Given the description of an element on the screen output the (x, y) to click on. 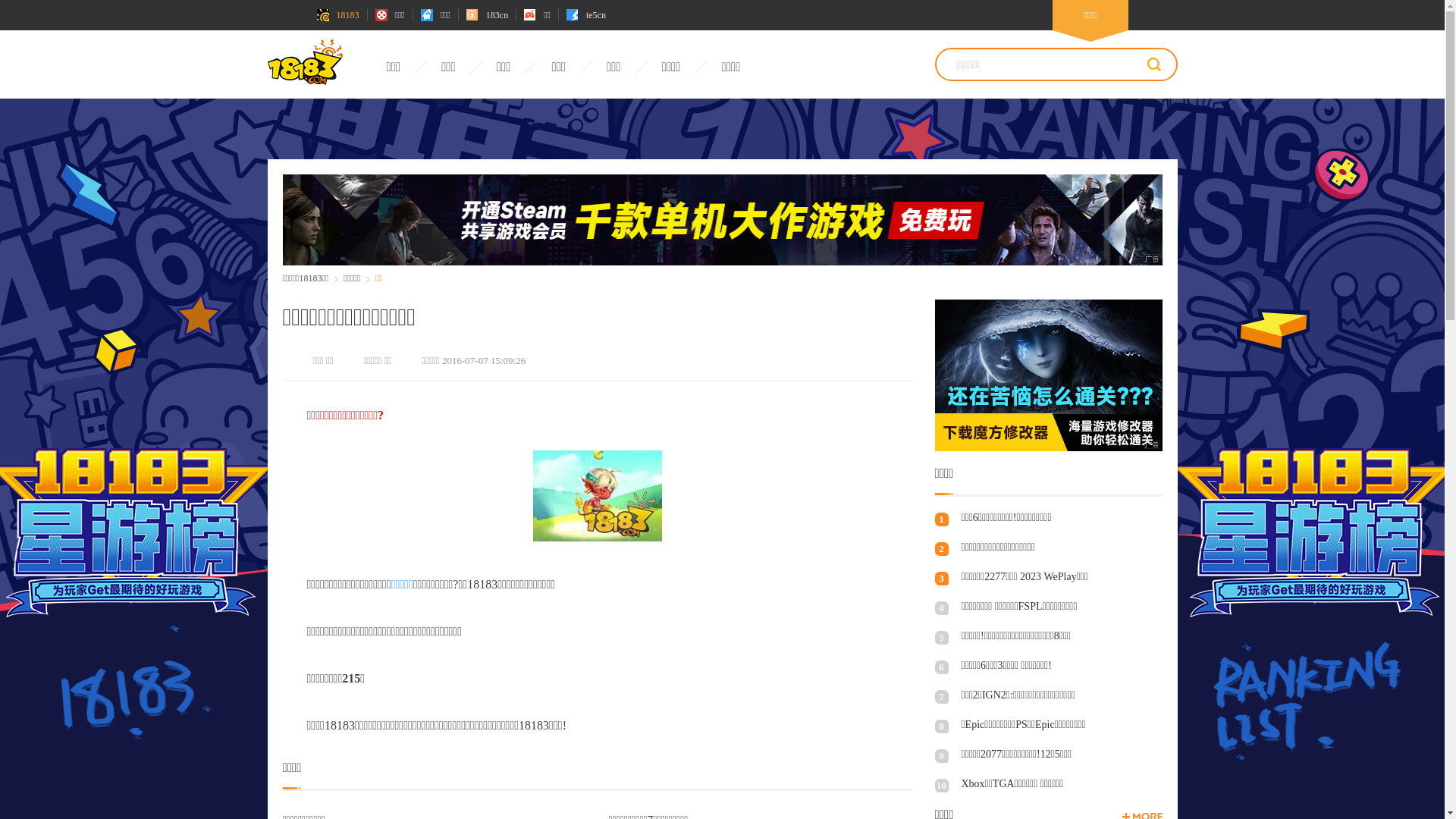
te5cn Element type: text (585, 14)
18183 Element type: text (337, 14)
183cn Element type: text (487, 14)
